Given the description of an element on the screen output the (x, y) to click on. 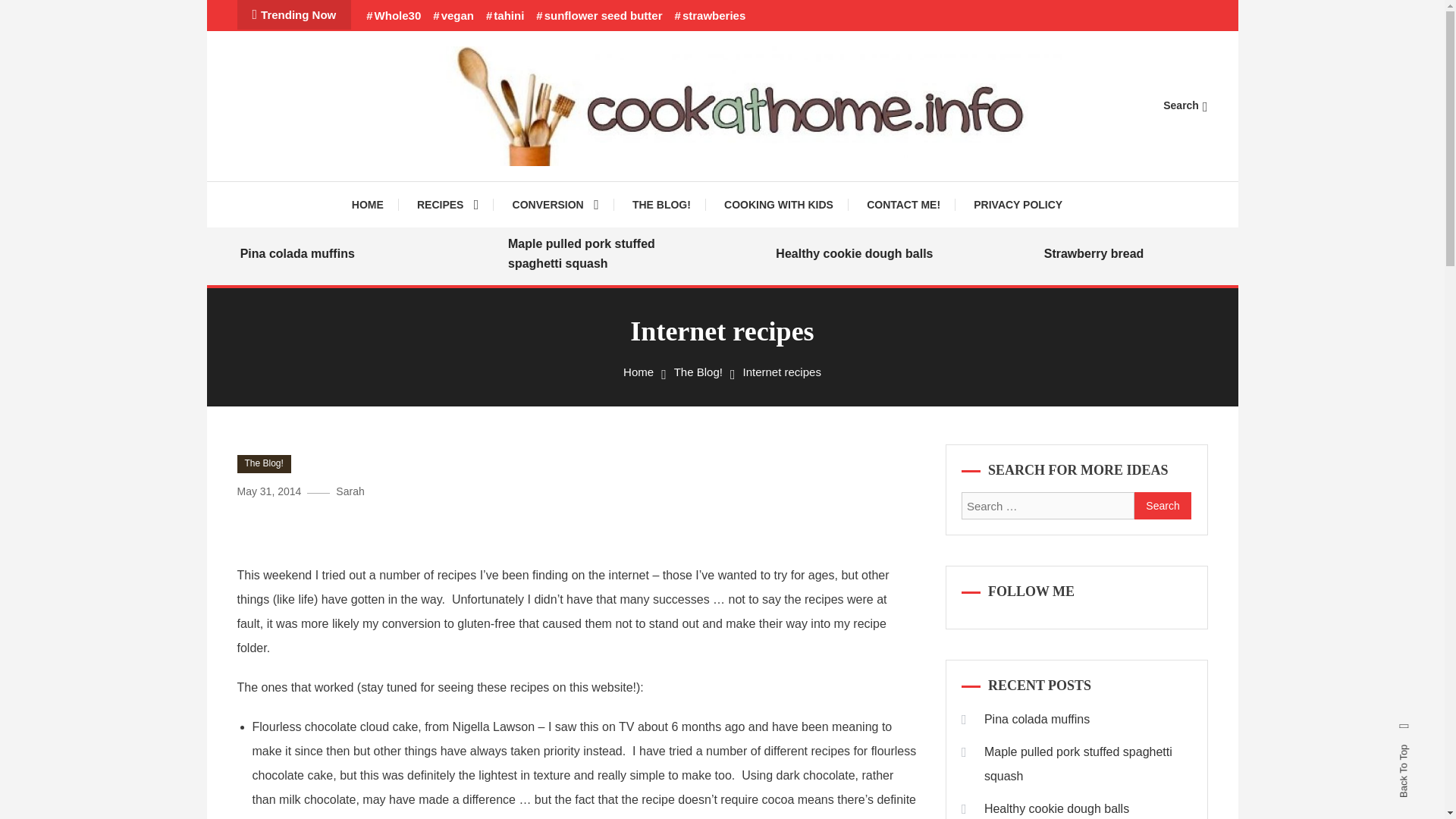
COOKING WITH KIDS (778, 204)
Search (1163, 505)
vegan (453, 15)
tahini (505, 15)
PRIVACY POLICY (1017, 204)
HOME (375, 204)
THE BLOG! (661, 204)
Whole30 (393, 15)
RECIPES (447, 204)
sunflower seed butter (598, 15)
Healthy cookie dough balls (927, 253)
Recipes (447, 204)
Maple pulled pork stuffed spaghetti squash (659, 253)
strawberies (710, 15)
Search (768, 434)
